Given the description of an element on the screen output the (x, y) to click on. 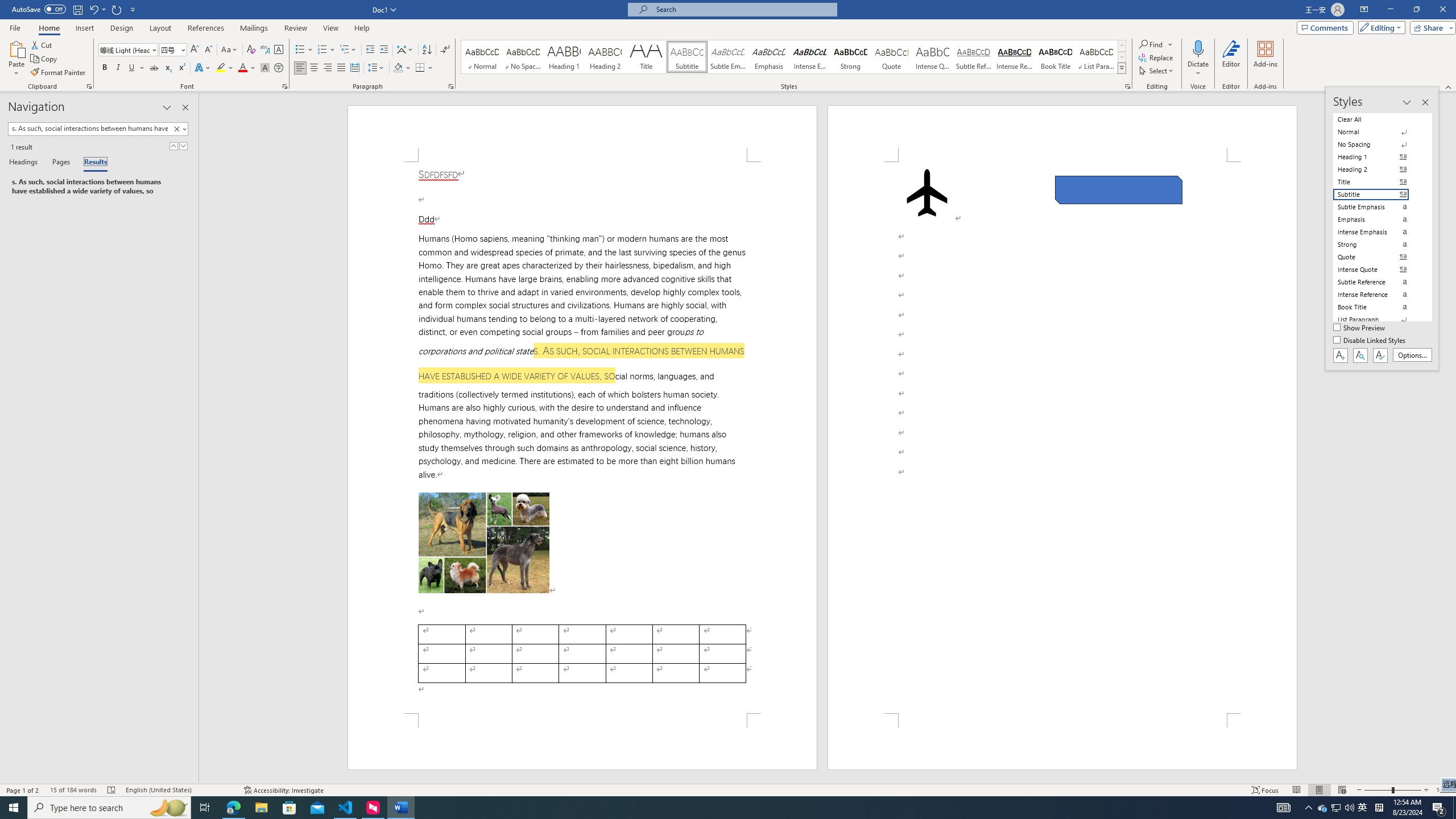
Normal (1377, 131)
Show Preview (1360, 328)
Next Result (183, 145)
Clear (176, 128)
Clear (178, 128)
Word Count 15 of 184 words (73, 790)
